Given the description of an element on the screen output the (x, y) to click on. 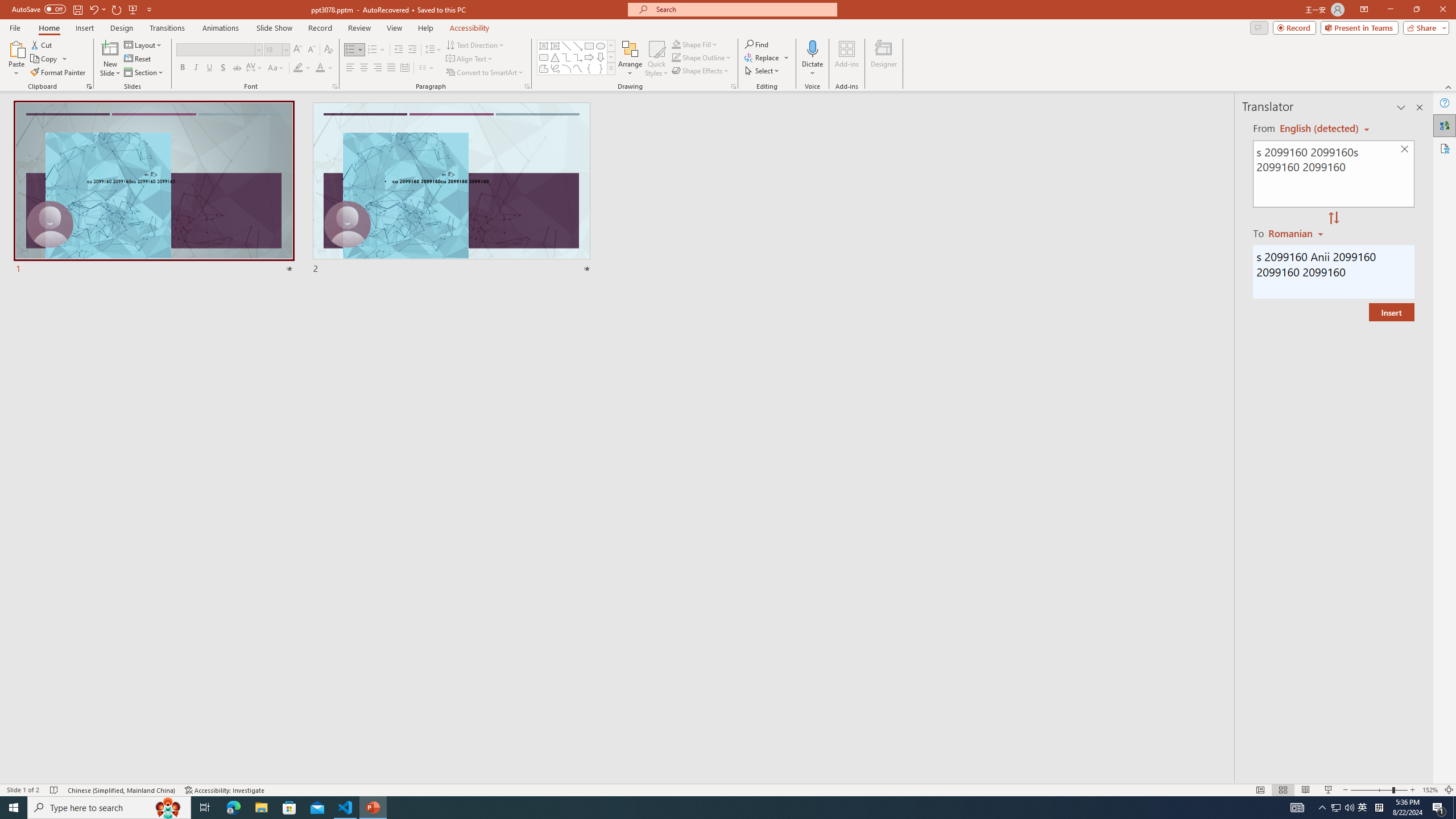
Czech (detected) (1319, 128)
